Given the description of an element on the screen output the (x, y) to click on. 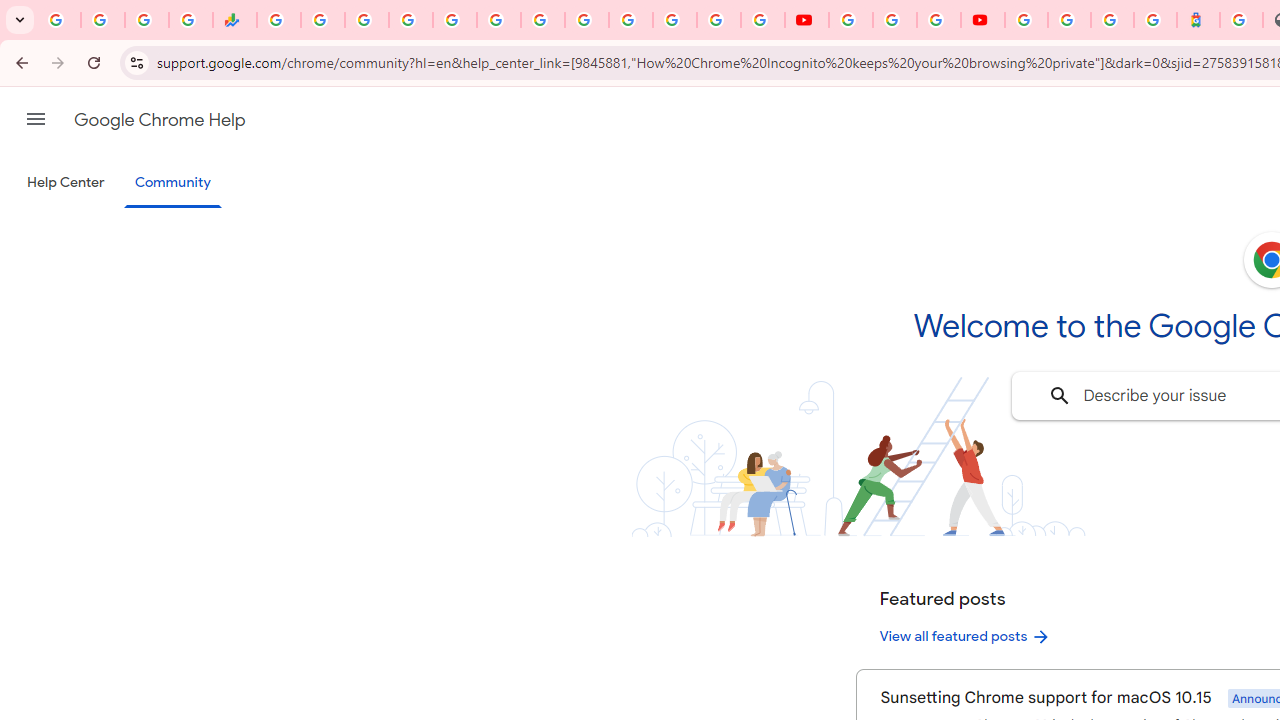
Android TV Policies and Guidelines - Transparency Center (542, 20)
YouTube (586, 20)
Sign in - Google Accounts (1069, 20)
Sign in - Google Accounts (1026, 20)
Community (171, 183)
Atour Hotel - Google hotels (1197, 20)
